Given the description of an element on the screen output the (x, y) to click on. 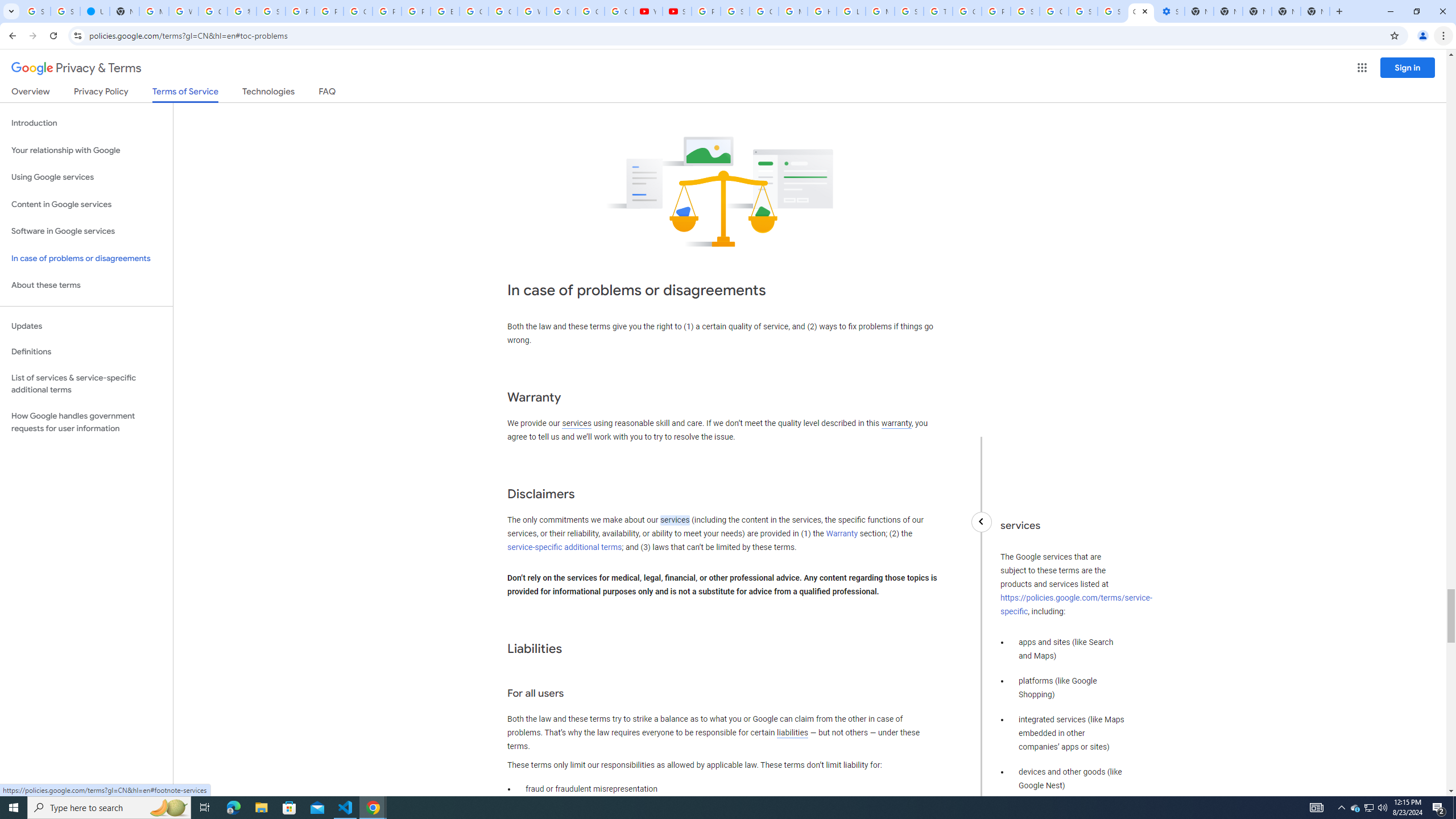
List of services & service-specific additional terms (86, 383)
Sign in - Google Accounts (35, 11)
Google Ads - Sign in (967, 11)
Privacy & Terms (76, 68)
Terms of Service (184, 94)
Your relationship with Google (86, 150)
service-specific additional terms (563, 547)
